Given the description of an element on the screen output the (x, y) to click on. 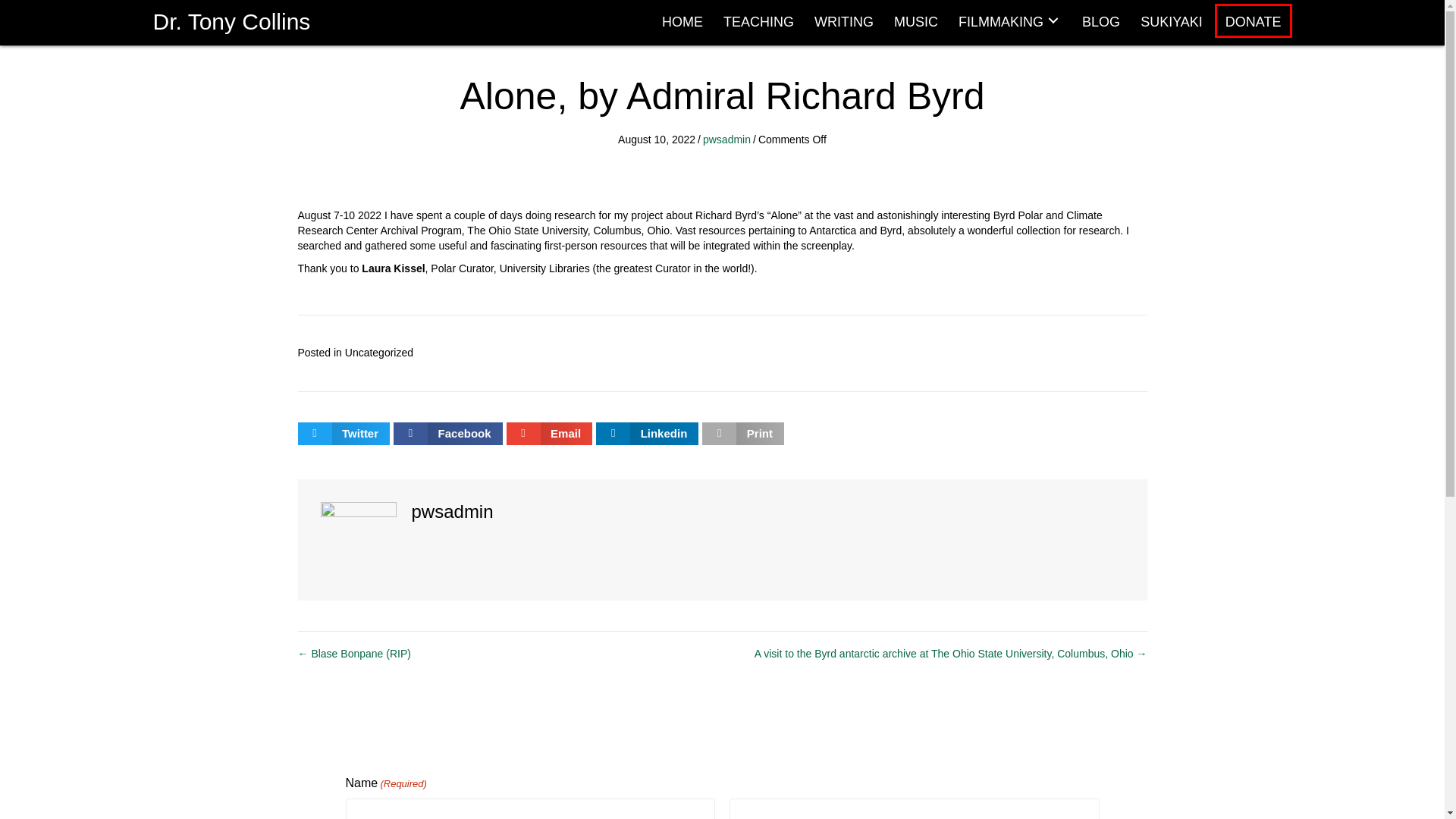
MUSIC (915, 20)
Uncategorized (379, 352)
BLOG (1101, 20)
Linkedin (646, 432)
Facebook (447, 432)
FILMMAKING (1010, 20)
SUKIYAKI (1171, 20)
Dr. Tony Collins (231, 21)
Print (742, 432)
WRITING (844, 20)
